Given the description of an element on the screen output the (x, y) to click on. 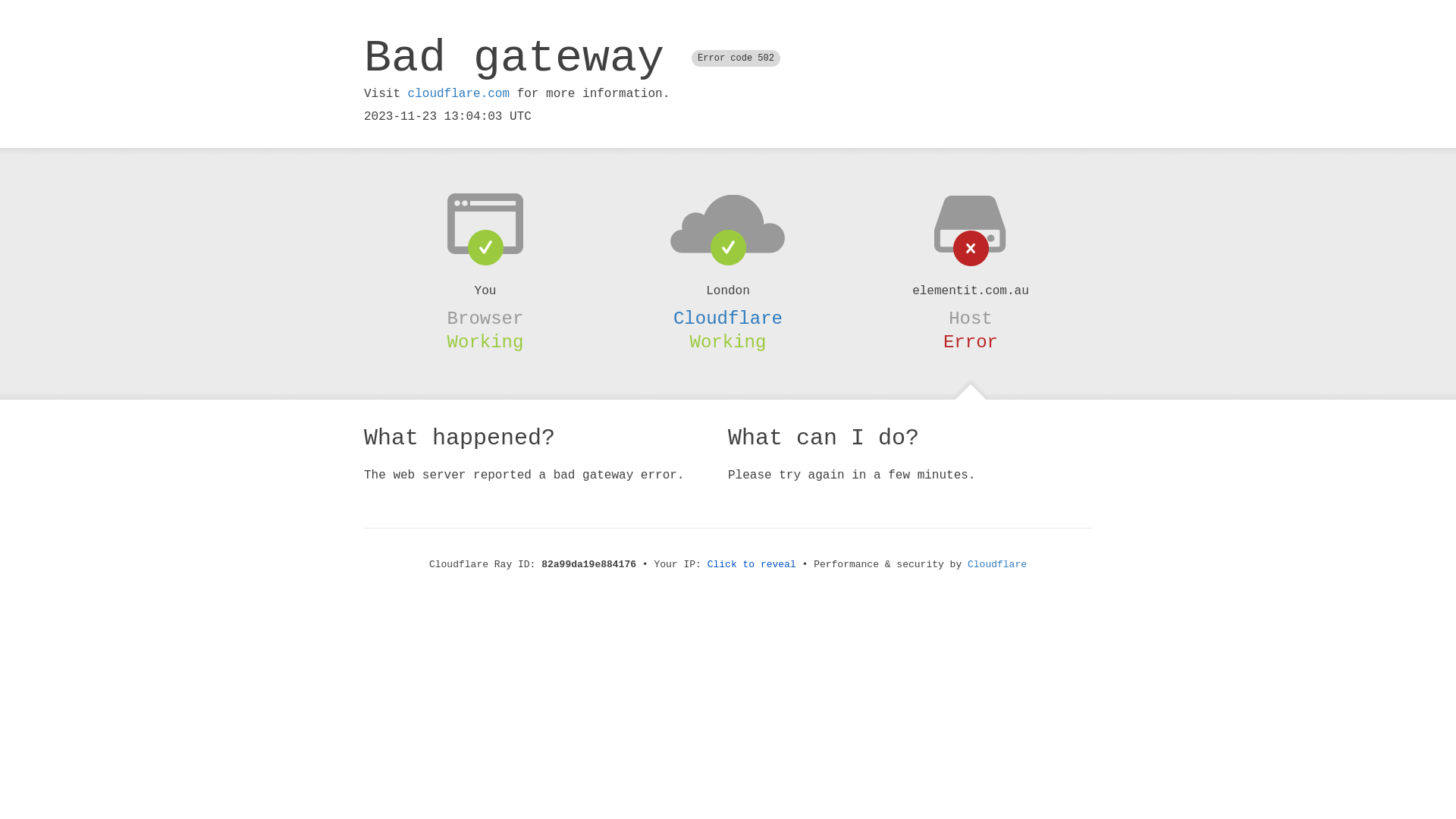
Cloudflare Element type: text (727, 318)
cloudflare.com Element type: text (458, 93)
Click to reveal Element type: text (751, 564)
Cloudflare Element type: text (996, 564)
